Given the description of an element on the screen output the (x, y) to click on. 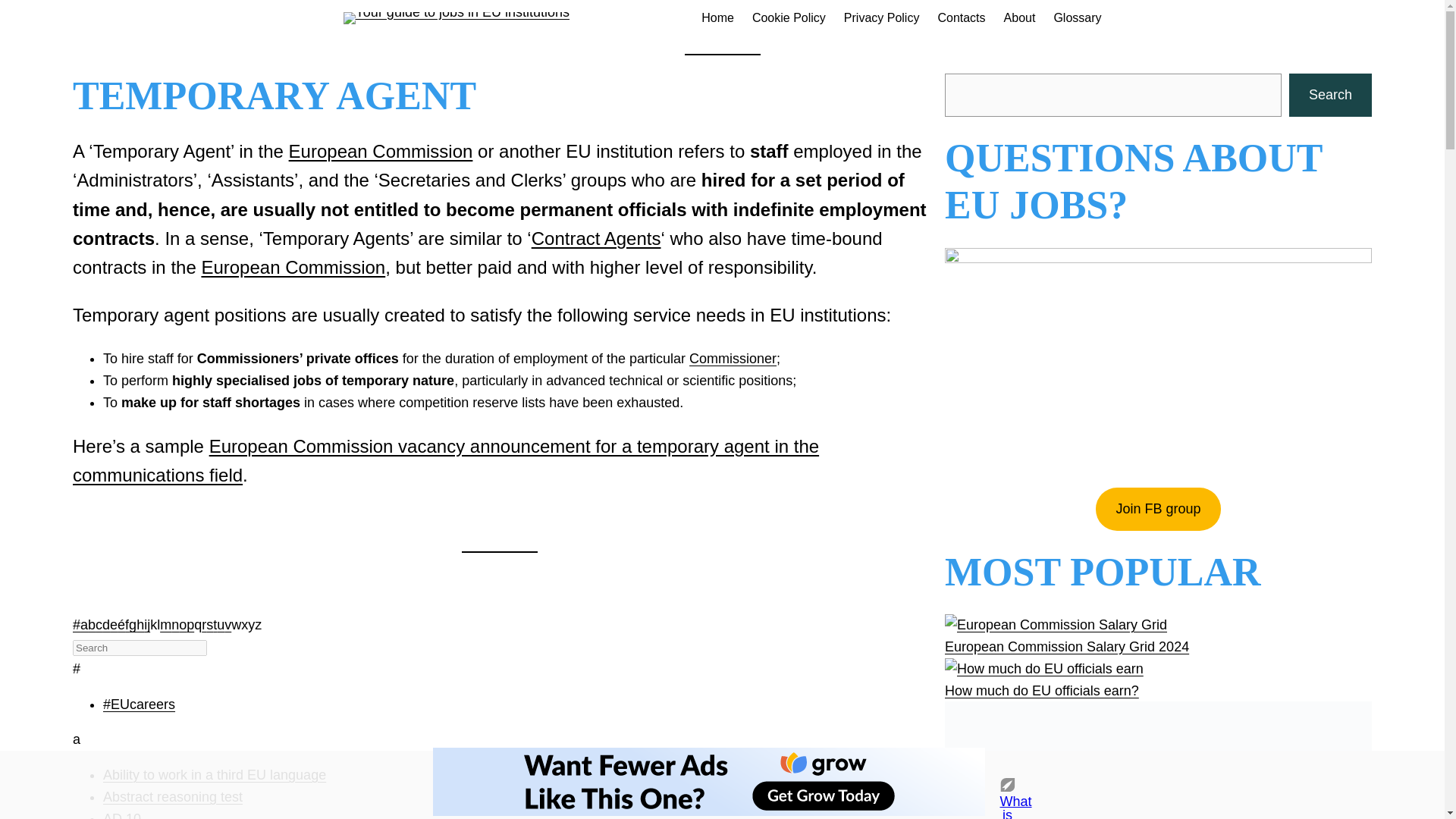
European Commission (292, 267)
Abstract reasoning test (173, 796)
Cookie Policy (788, 17)
Contract Agents (596, 238)
Home (717, 17)
Glossary (1076, 17)
Privacy Policy (882, 17)
Commissioner (732, 358)
European Commission (380, 150)
About (1019, 17)
AD 10 (122, 815)
Ability to work in a third EU language (214, 774)
Contacts (961, 17)
